Given the description of an element on the screen output the (x, y) to click on. 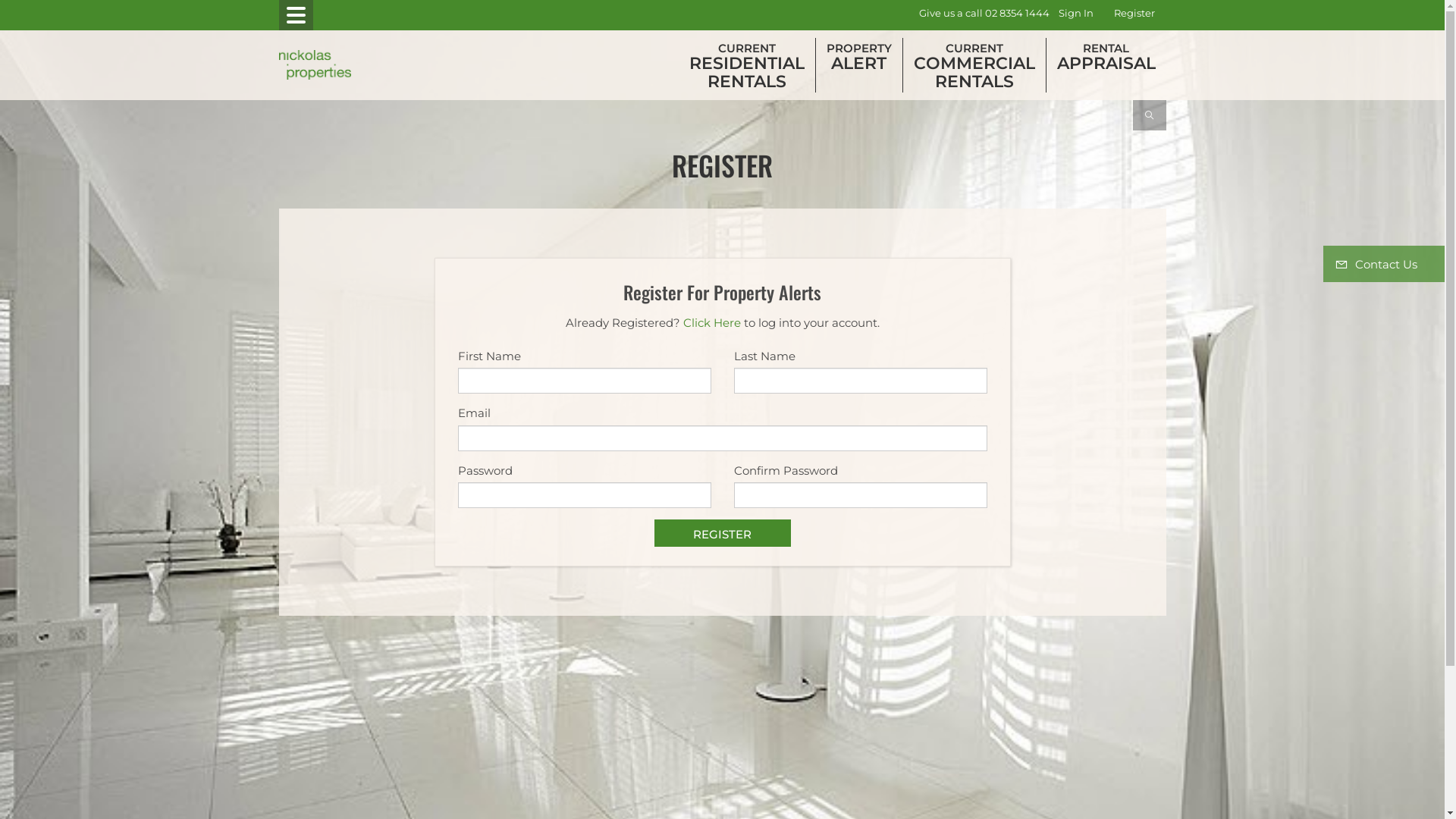
CURRENT
RESIDENTIAL
RENTALS Element type: text (745, 64)
Give us a call 02 8354 1444 Element type: text (984, 13)
Register Element type: text (1134, 13)
REGISTER Element type: text (721, 532)
Sign In Element type: text (1075, 13)
Contact Us Element type: text (1383, 263)
Click Here Element type: text (711, 322)
CURRENT
COMMERCIAL
RENTALS Element type: text (973, 64)
RENTAL
APPRAISAL Element type: text (1106, 55)
PROPERTY
ALERT Element type: text (858, 55)
